Given the description of an element on the screen output the (x, y) to click on. 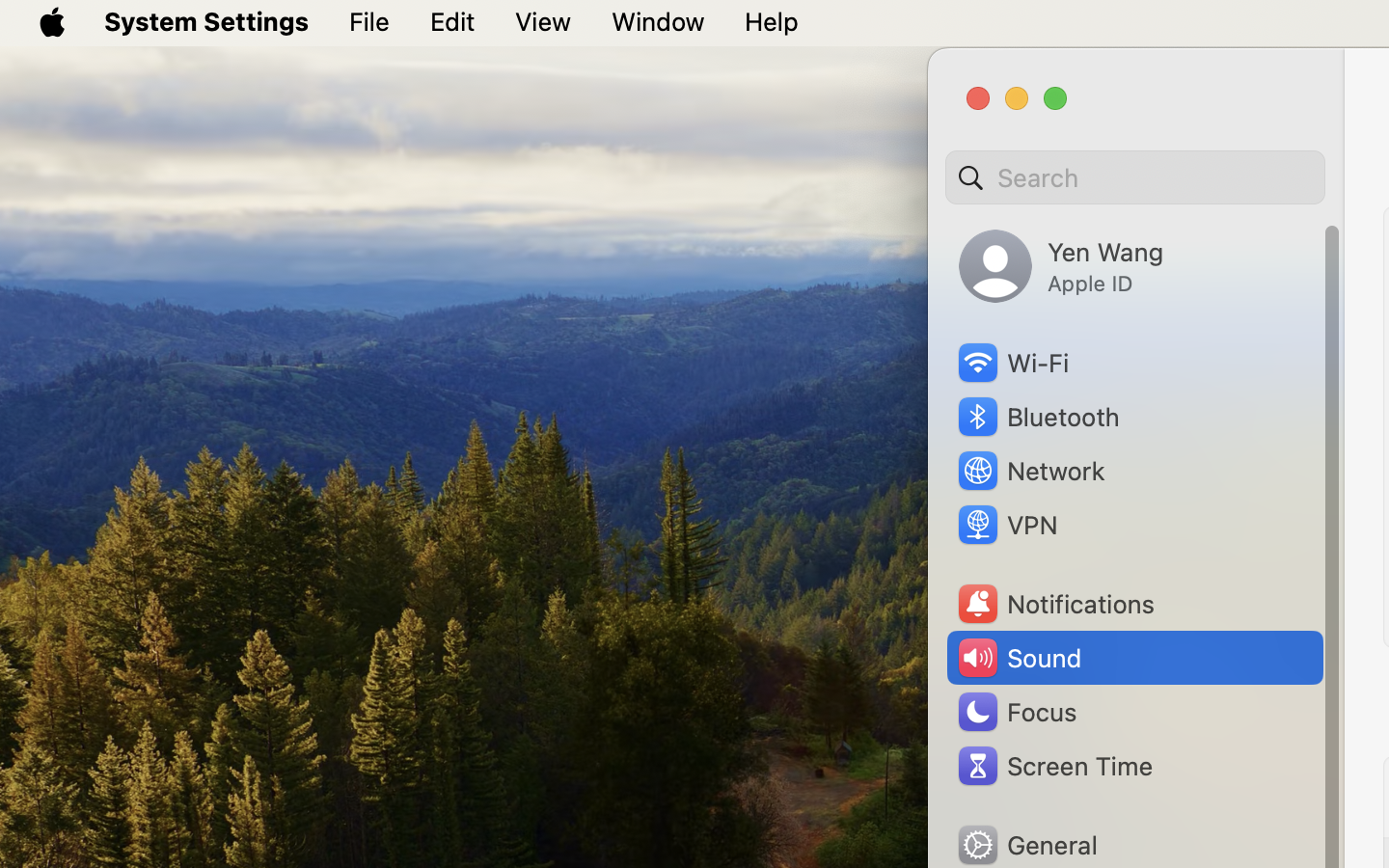
VPN Element type: AXStaticText (1005, 524)
Network Element type: AXStaticText (1029, 470)
Wi‑Fi Element type: AXStaticText (1011, 362)
General Element type: AXStaticText (1025, 844)
Focus Element type: AXStaticText (1015, 711)
